Given the description of an element on the screen output the (x, y) to click on. 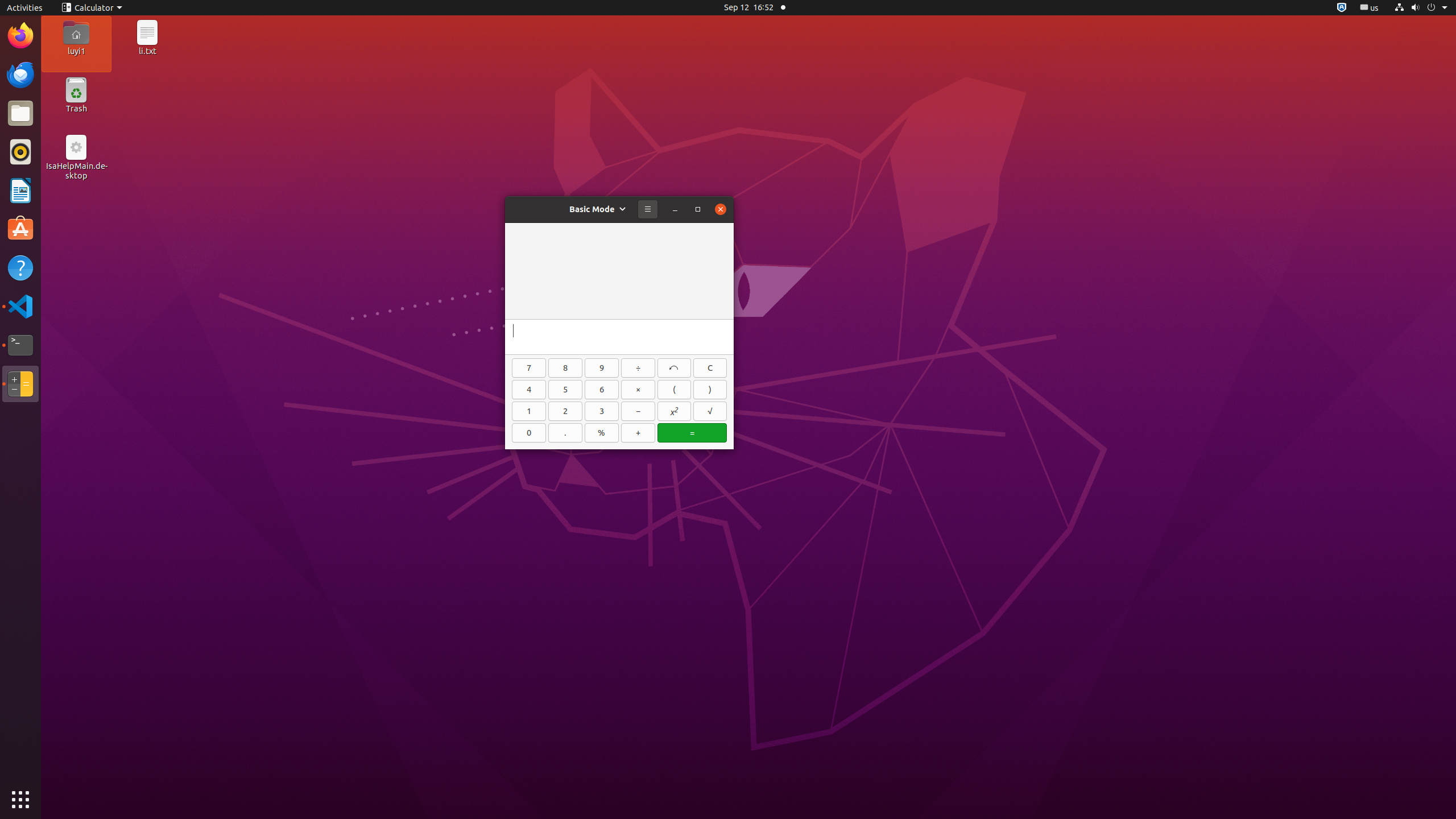
) Element type: push-button (709, 389)
Close Element type: push-button (720, 208)
% Element type: push-button (601, 432)
7 Element type: push-button (528, 367)
= Element type: push-button (691, 432)
